Given the description of an element on the screen output the (x, y) to click on. 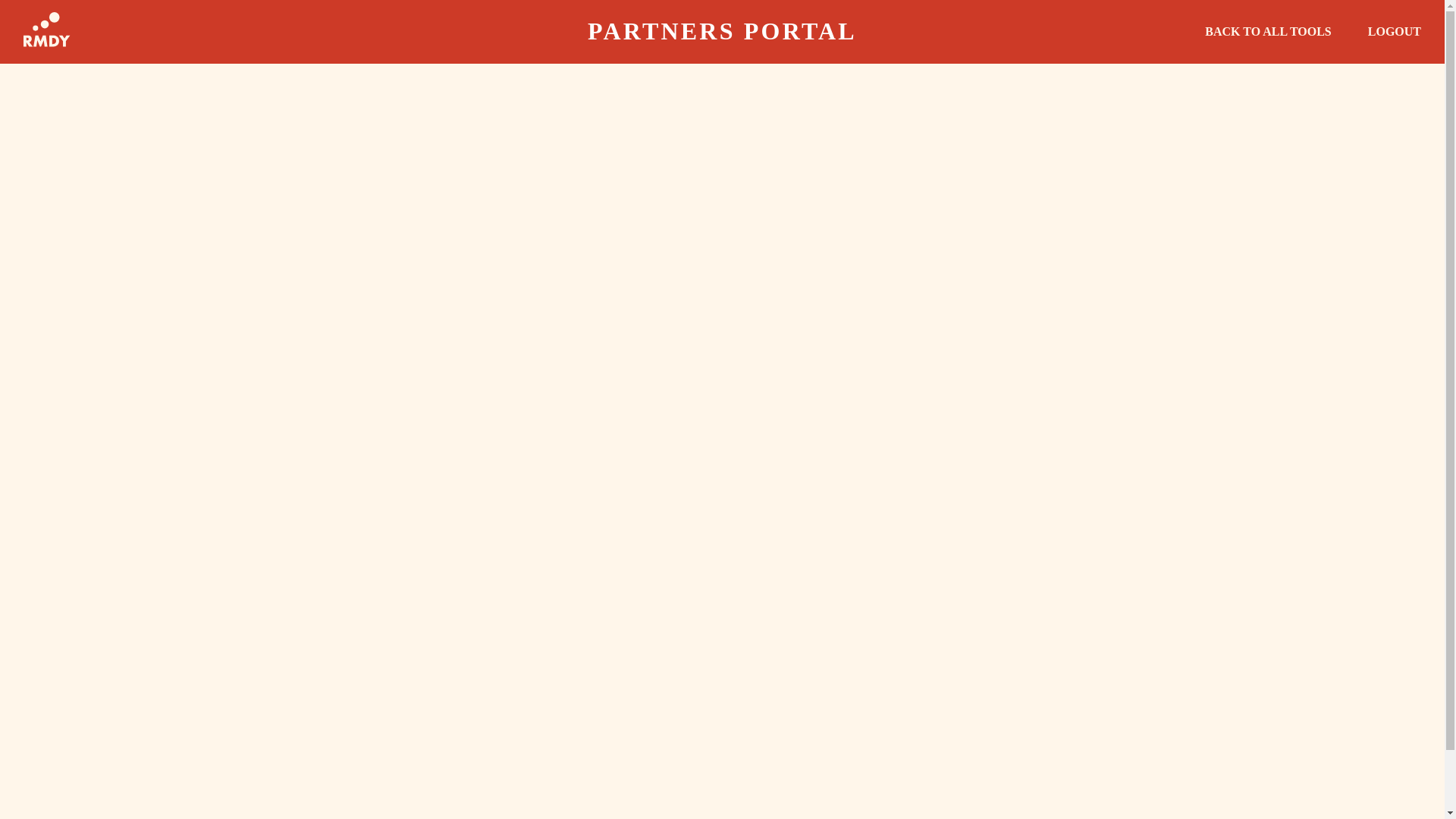
BACK TO ALL TOOLS (1267, 31)
LOGOUT (1394, 31)
